Given the description of an element on the screen output the (x, y) to click on. 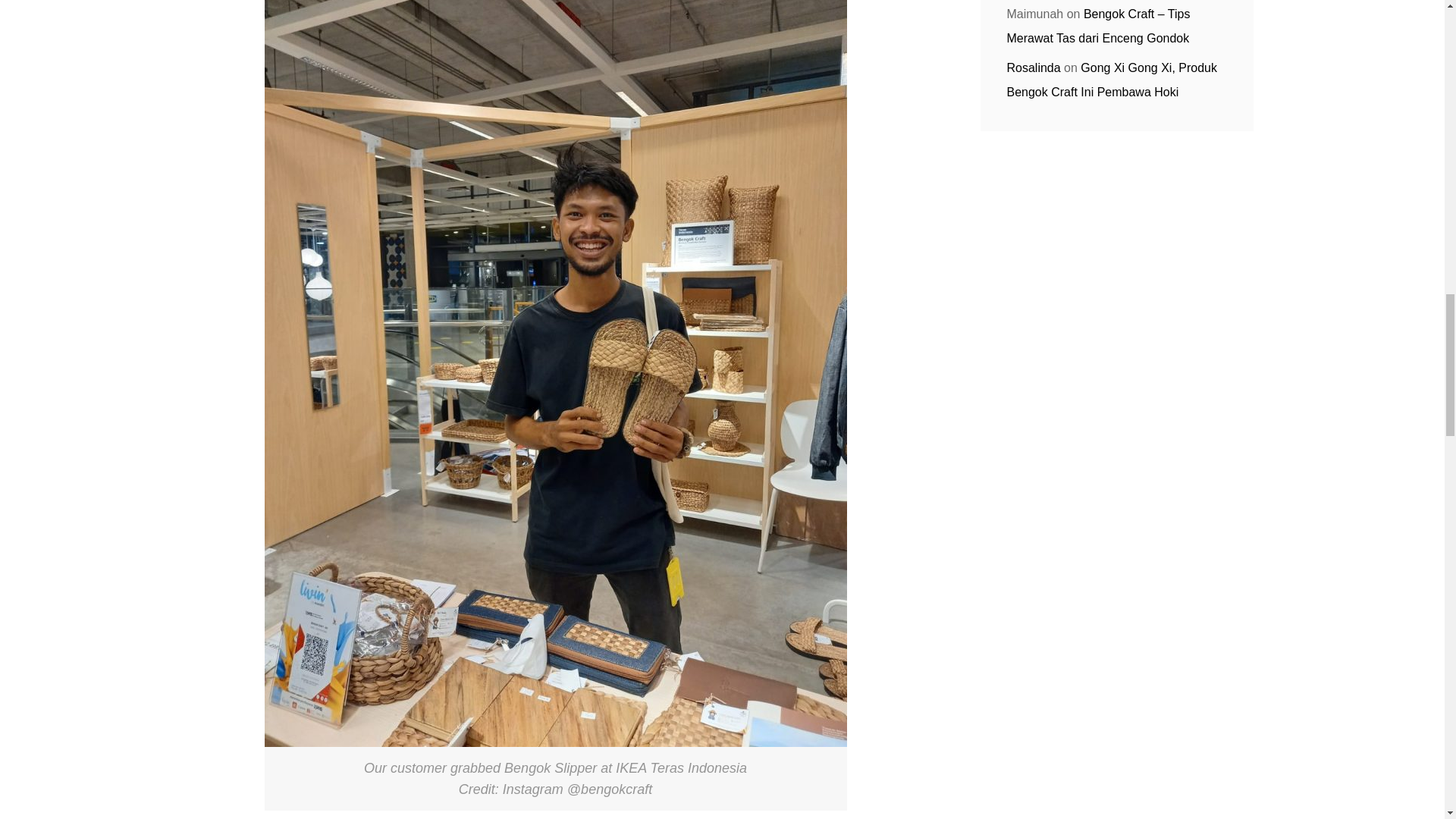
Rosalinda (1034, 67)
Gong Xi Gong Xi, Produk Bengok Craft Ini Pembawa Hoki (1112, 79)
